Given the description of an element on the screen output the (x, y) to click on. 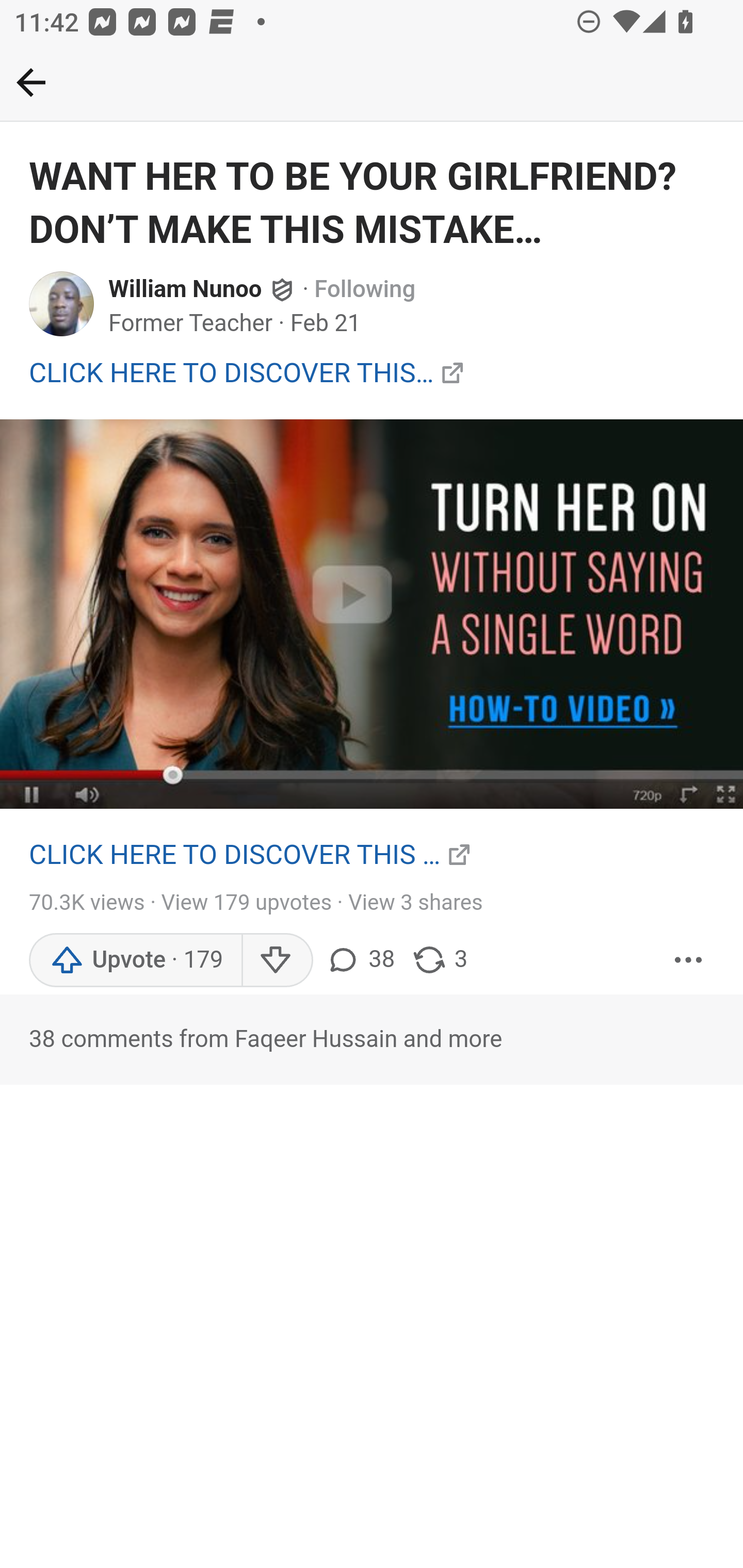
Back (30, 82)
Profile photo for William Nunoo (61, 302)
William Nunoo (185, 289)
Following (365, 289)
CLICK HERE TO DISCOVER THIS… (231, 372)
main-qimg-6fe9c1e9f4612206297d70281f2b6078-lq (371, 613)
CLICK HERE TO DISCOVER THIS … (235, 853)
View 179 upvotes (246, 903)
View 3 shares (414, 903)
Upvote (135, 959)
Downvote (277, 959)
38 comments (363, 959)
3 shares (439, 959)
More (688, 959)
38 comments from Faqeer Hussain and more (371, 1039)
